Given the description of an element on the screen output the (x, y) to click on. 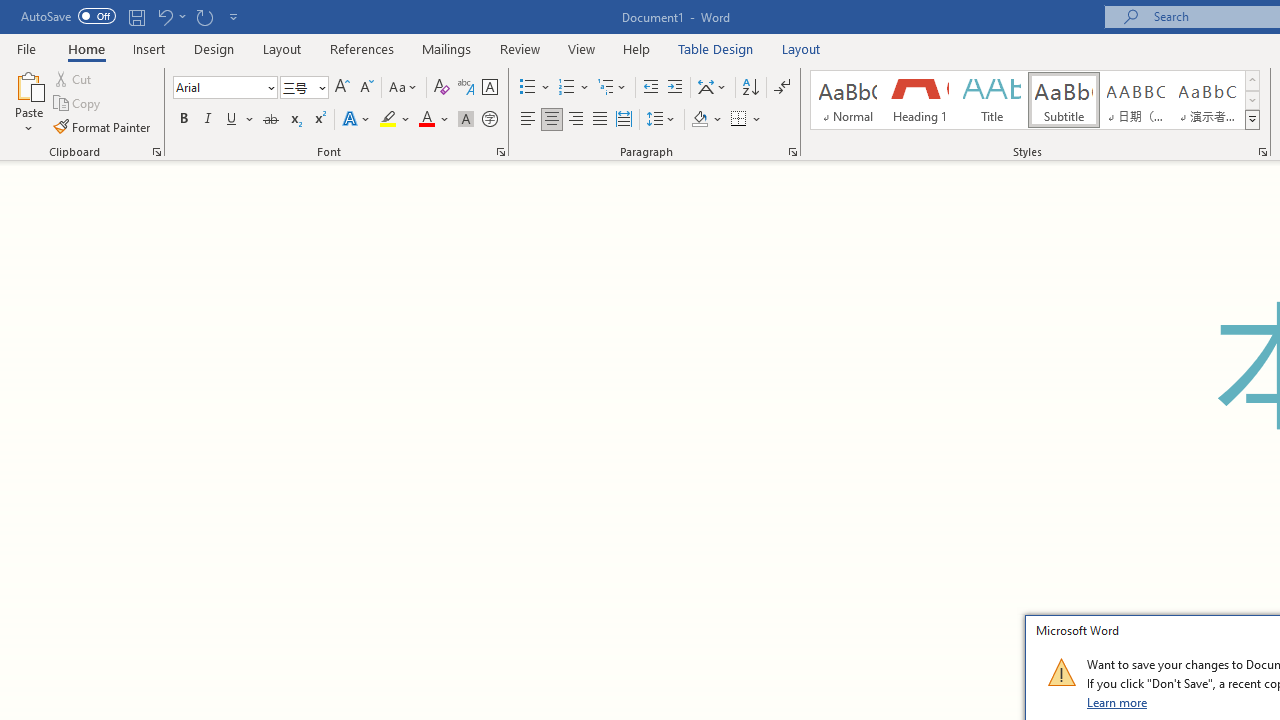
Font Color Red (426, 119)
